Given the description of an element on the screen output the (x, y) to click on. 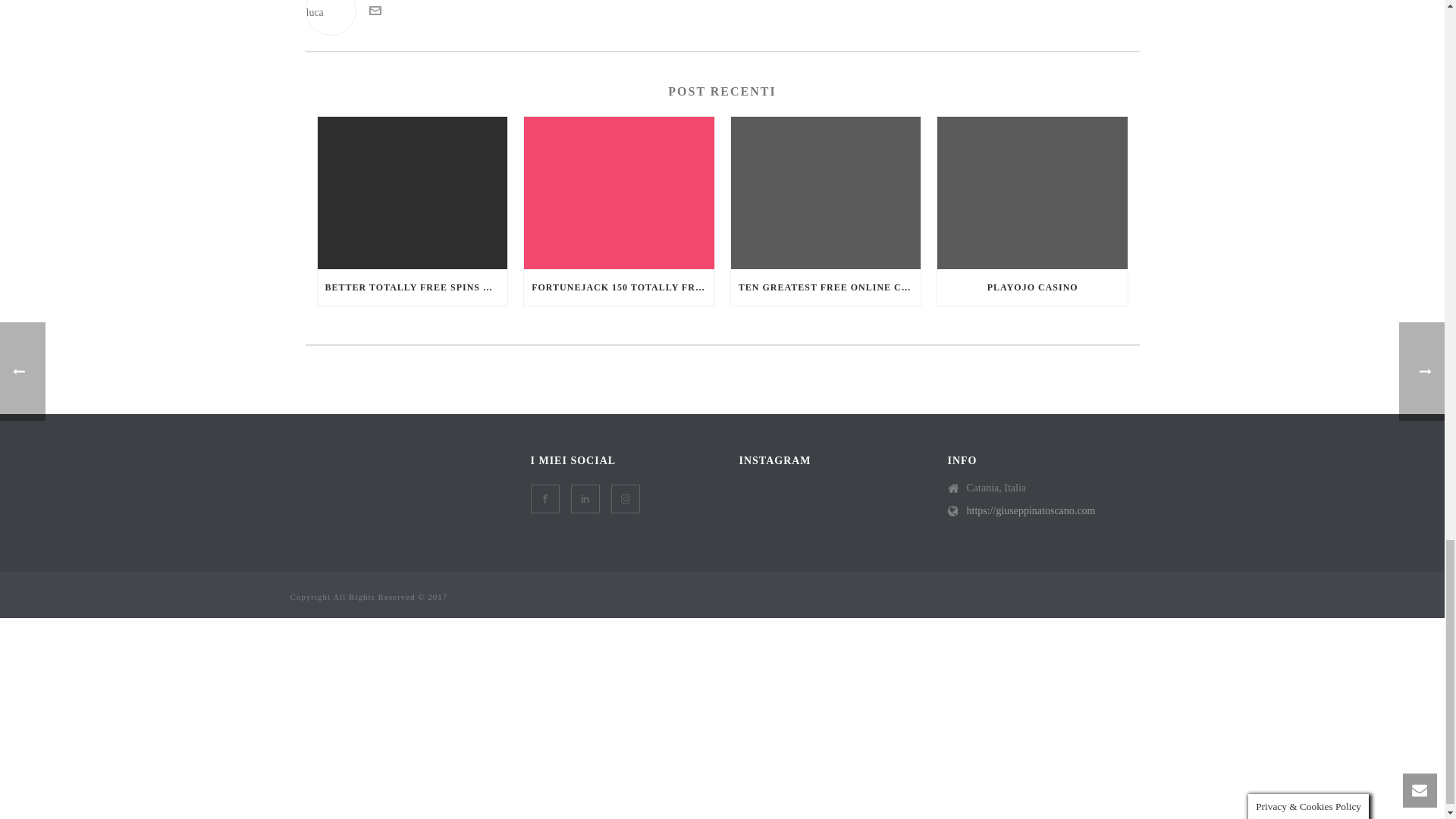
BETTER TOTALLY FREE SPINS GAMBLING ENTERPRISES 2024 (411, 287)
Seguimi su instagram (625, 498)
Playojo Casino (1031, 193)
TEN GREATEST FREE ONLINE CASINO GAMES TO POSSESS ANDROID OS (825, 287)
PLAYOJO CASINO (1031, 287)
Better Totally free Spins Gambling enterprises 2024 (411, 193)
ten Greatest Free Online casino games To possess Android os (825, 193)
Fortunejack 150 Totally free Revolves (619, 193)
Seguimi su linkedin (584, 498)
FORTUNEJACK 150 TOTALLY FREE REVOLVES (619, 287)
Seguimi su facebook (545, 498)
Entra in contatto com noi via em-mail (374, 12)
